Given the description of an element on the screen output the (x, y) to click on. 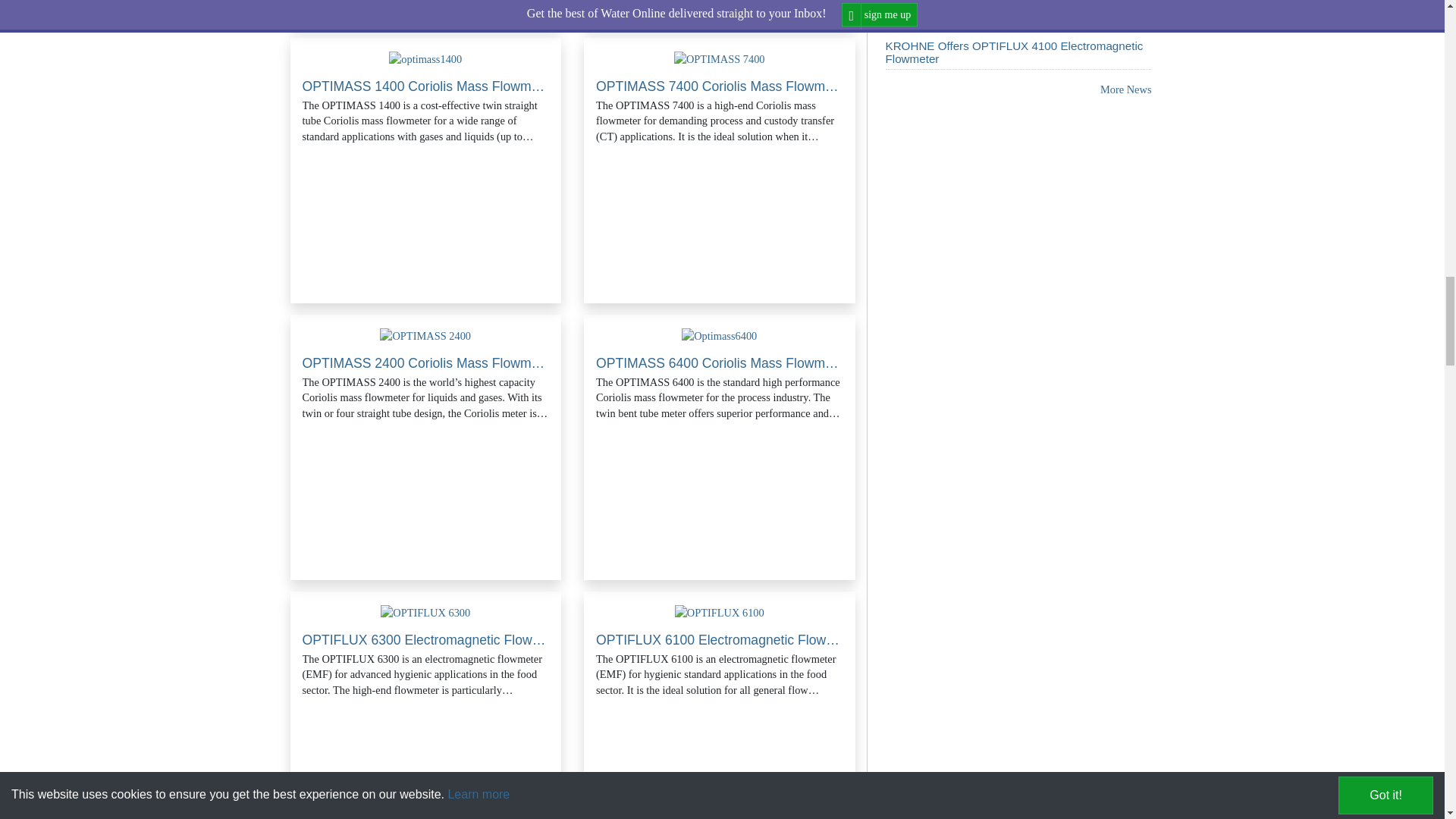
OPTIMASS 2400 Coriolis Mass Flowmeter (425, 335)
OPTIFLUX 6300 Electromagnetic Flowmeter (425, 612)
OPTIFLUX 6100 Electromagnetic Flowmeter (719, 612)
OPTIMASS 1400 Coriolis Mass Flowmeter (424, 58)
OPTIMASS 6400 Coriolis Mass Flowmeter (719, 335)
OPTIMASS 7400 Coriolis Mass Flowmeter (719, 58)
